Given the description of an element on the screen output the (x, y) to click on. 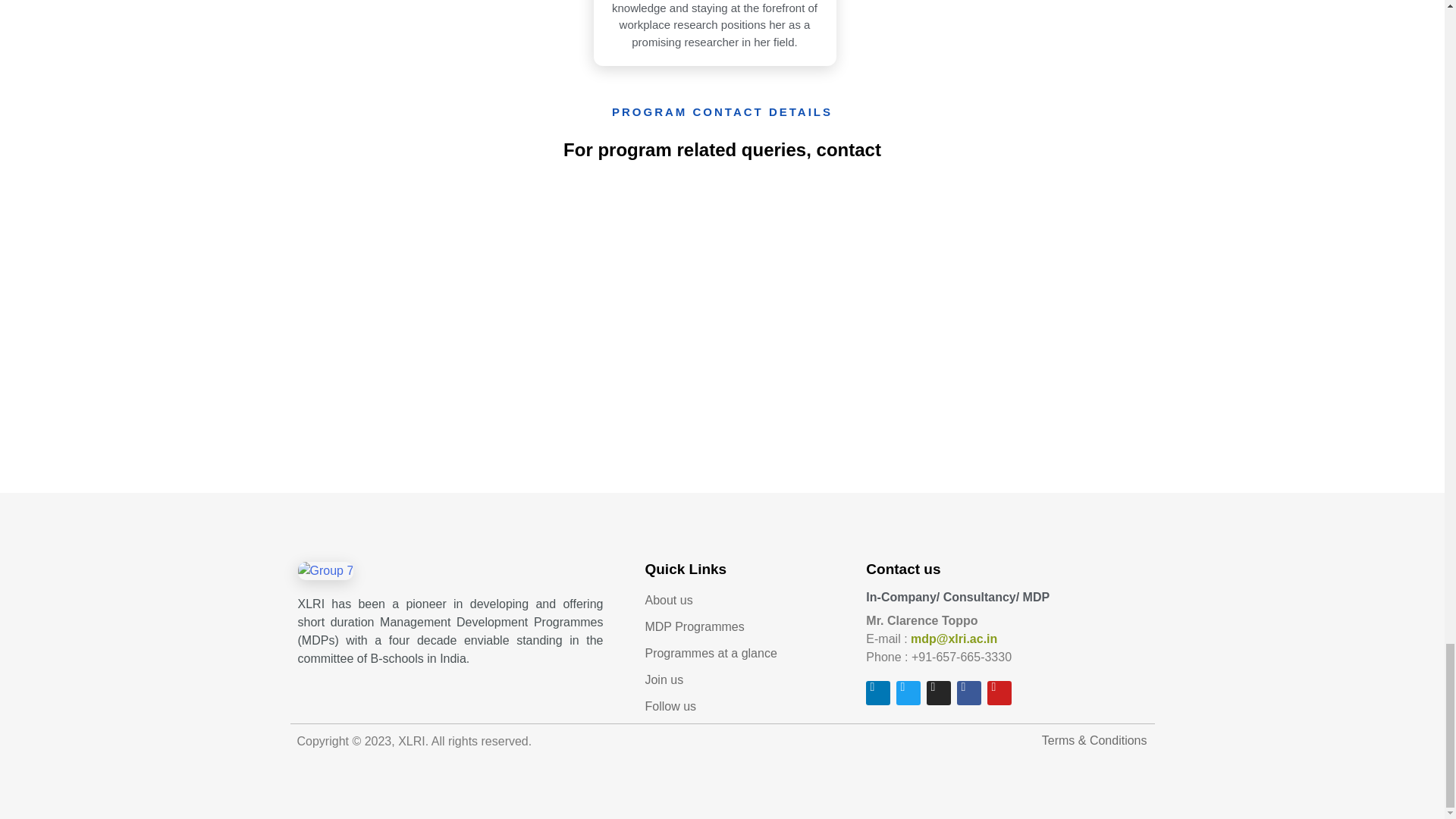
Join us (747, 679)
About us (747, 600)
Follow us (747, 706)
Programmes at a glance (747, 653)
Group 7 (325, 570)
MDP Programmes (747, 627)
